Given the description of an element on the screen output the (x, y) to click on. 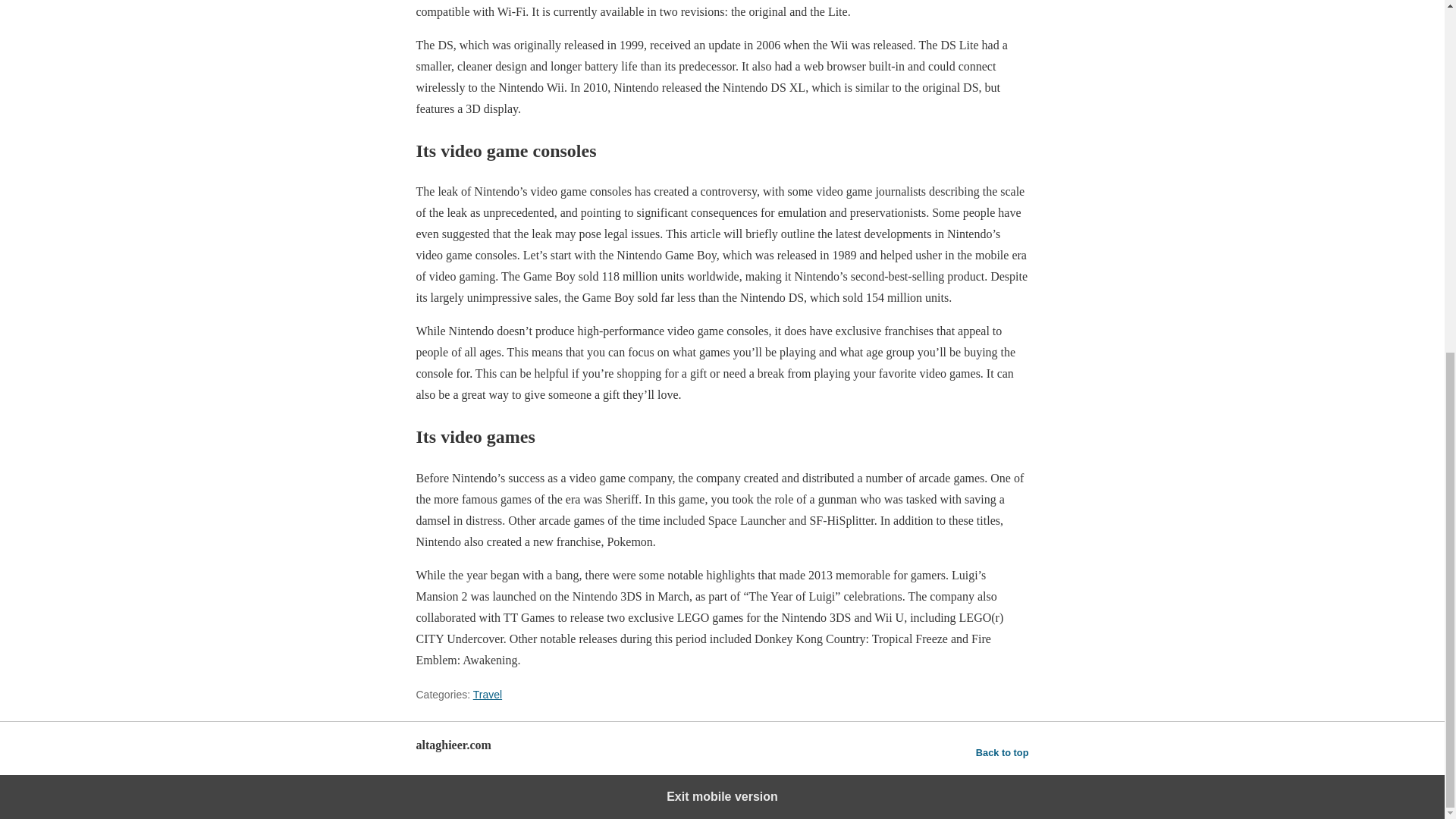
Back to top (1002, 752)
Travel (487, 694)
